Given the description of an element on the screen output the (x, y) to click on. 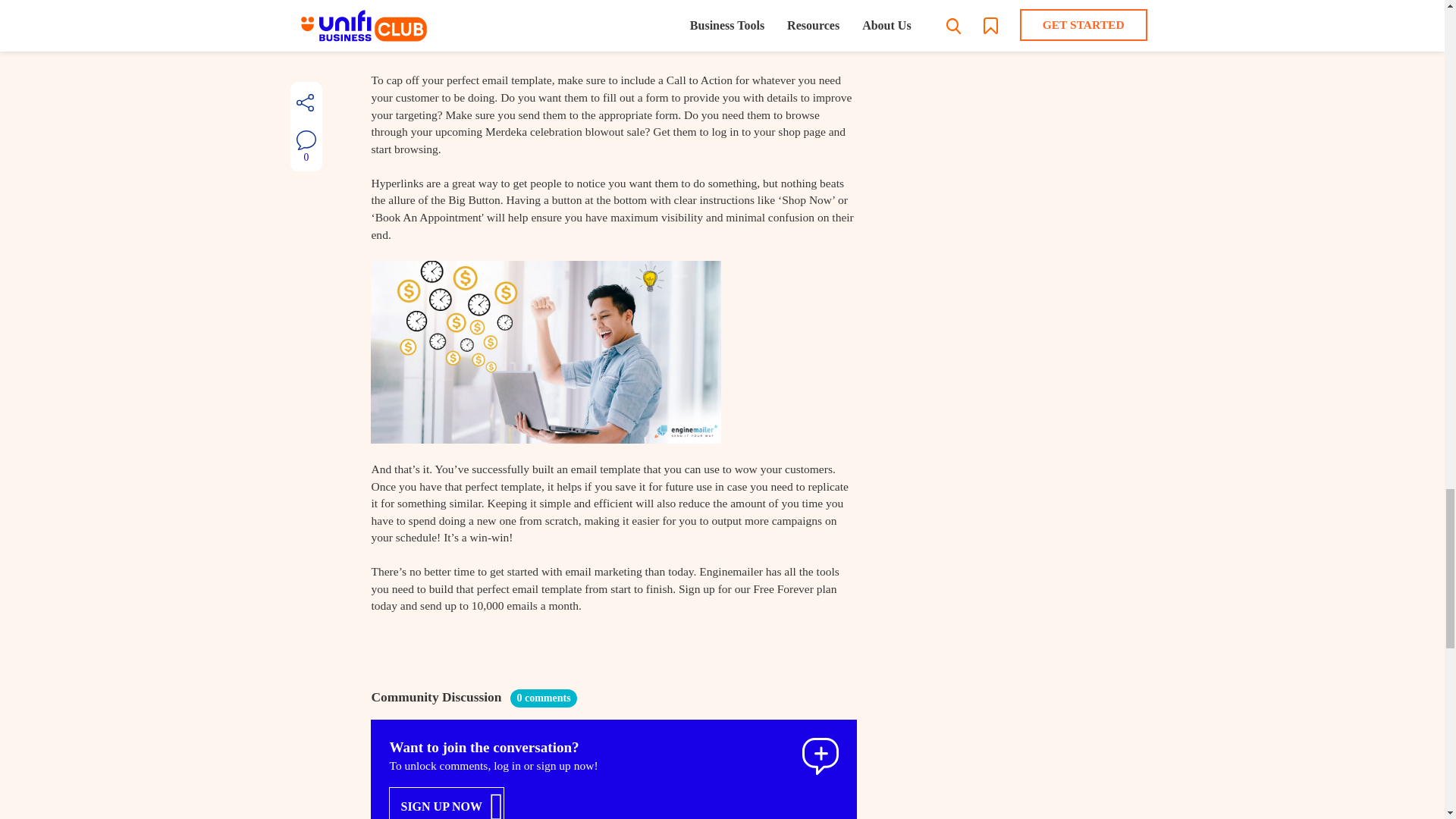
Free Forever (782, 588)
SIGN UP NOW (445, 803)
